Given the description of an element on the screen output the (x, y) to click on. 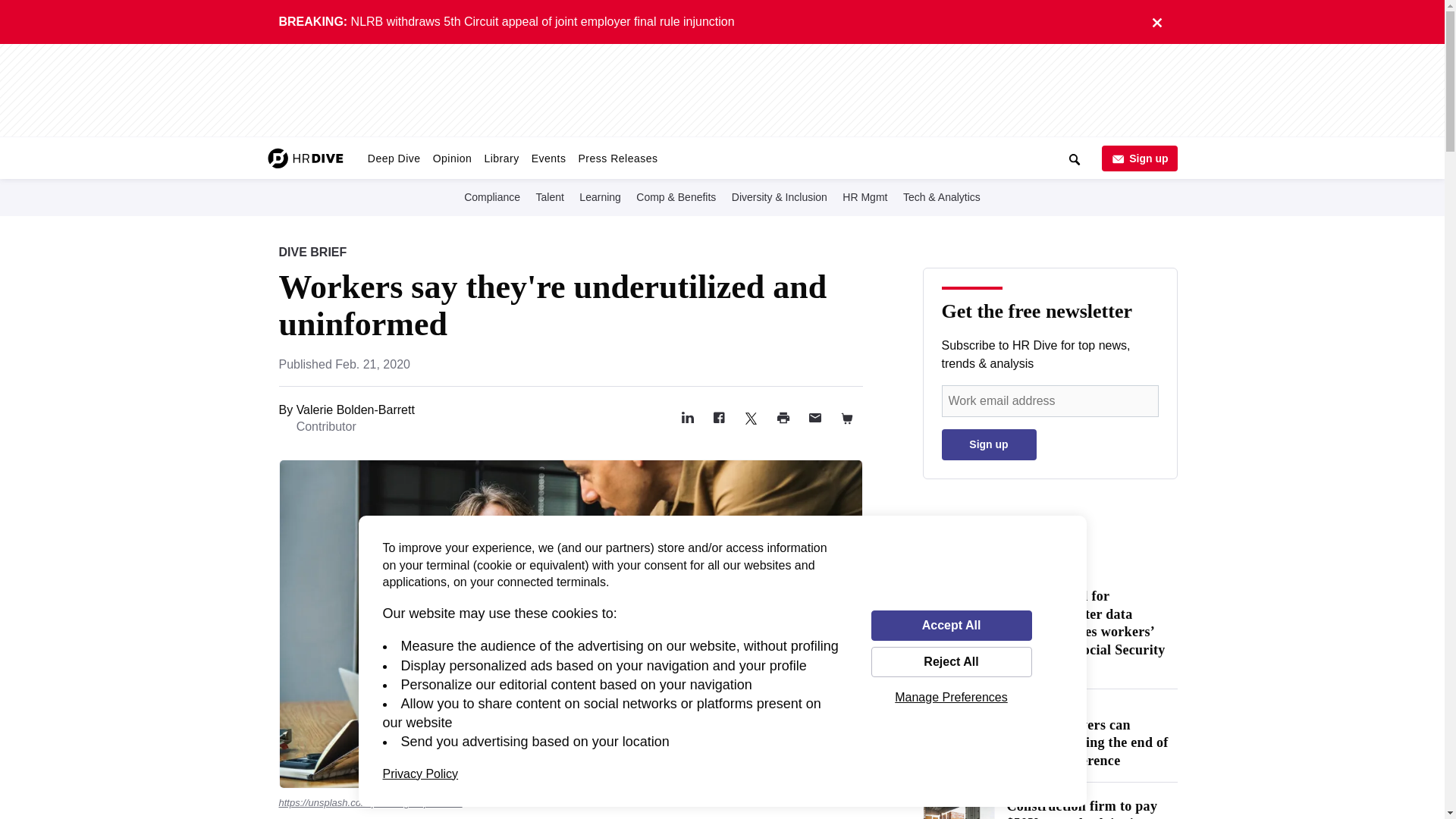
Opinion (452, 158)
Talent (549, 196)
Press Releases (617, 158)
Deep Dive (393, 158)
Library (500, 158)
HR Mgmt (864, 196)
Privacy Policy (419, 773)
Manage Preferences (950, 697)
Events (548, 158)
Reject All (950, 662)
Compliance (491, 196)
Sign up (1138, 158)
Accept All (950, 625)
Learning (600, 196)
